Given the description of an element on the screen output the (x, y) to click on. 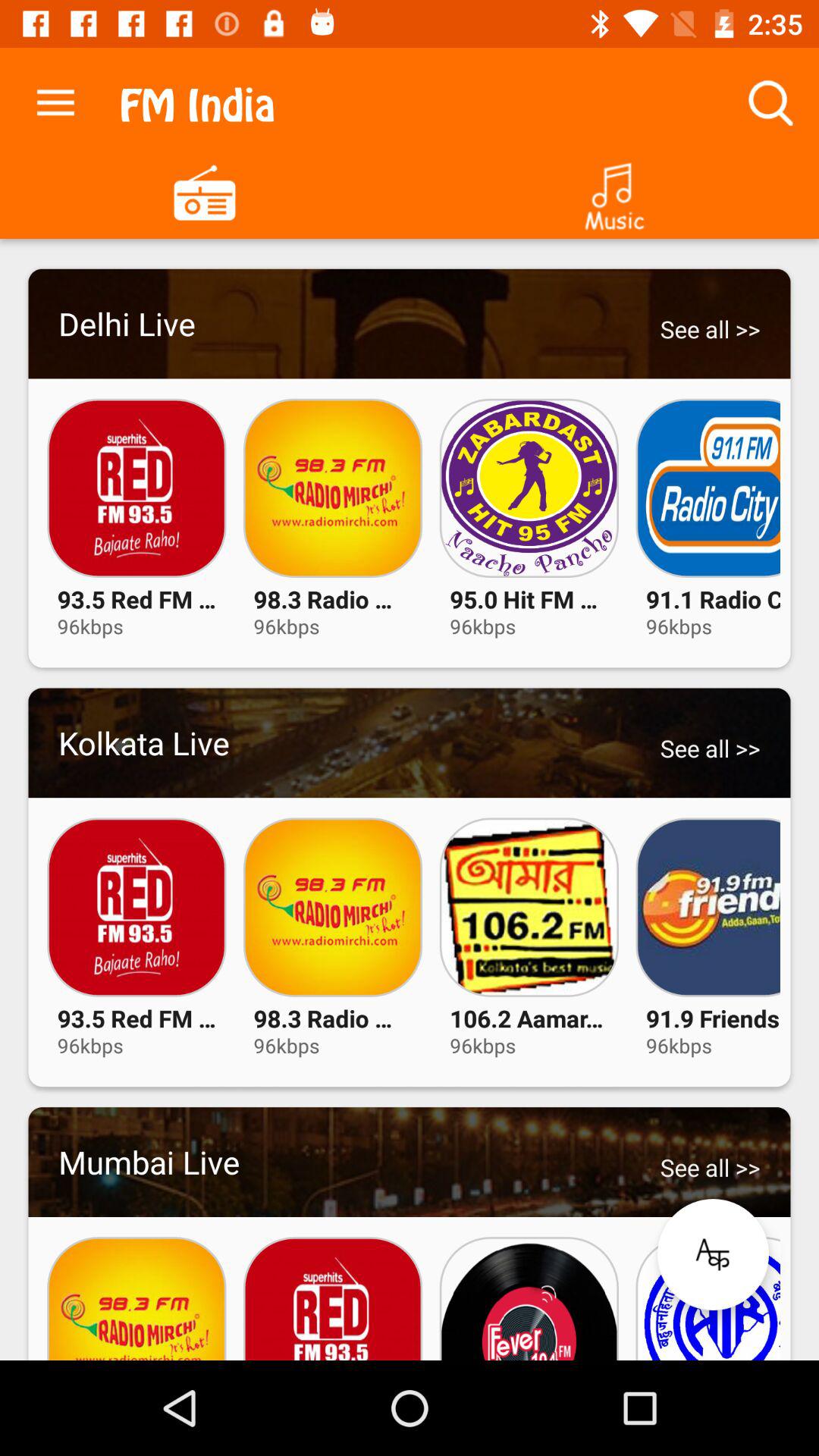
press icon below see all >> item (712, 1254)
